Given the description of an element on the screen output the (x, y) to click on. 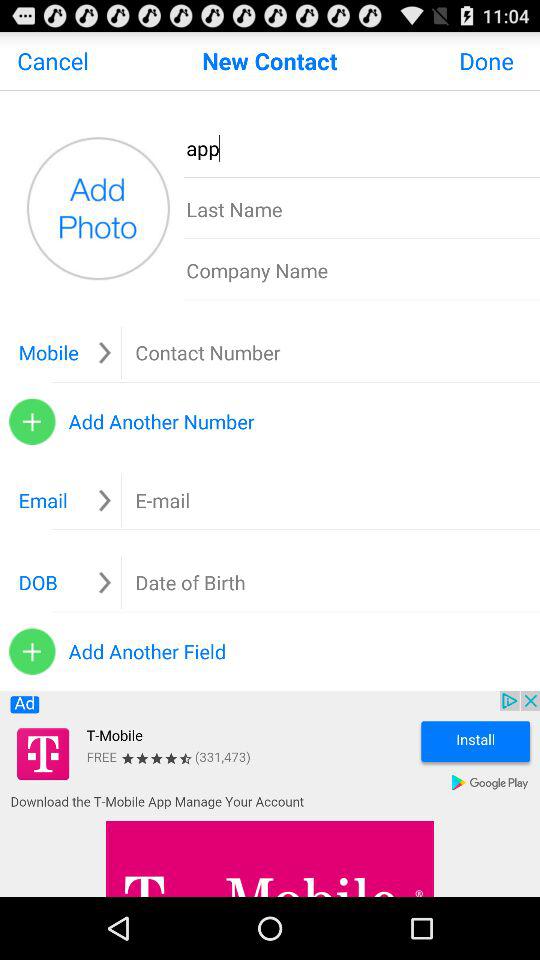
select the date of brith (190, 582)
